Given the description of an element on the screen output the (x, y) to click on. 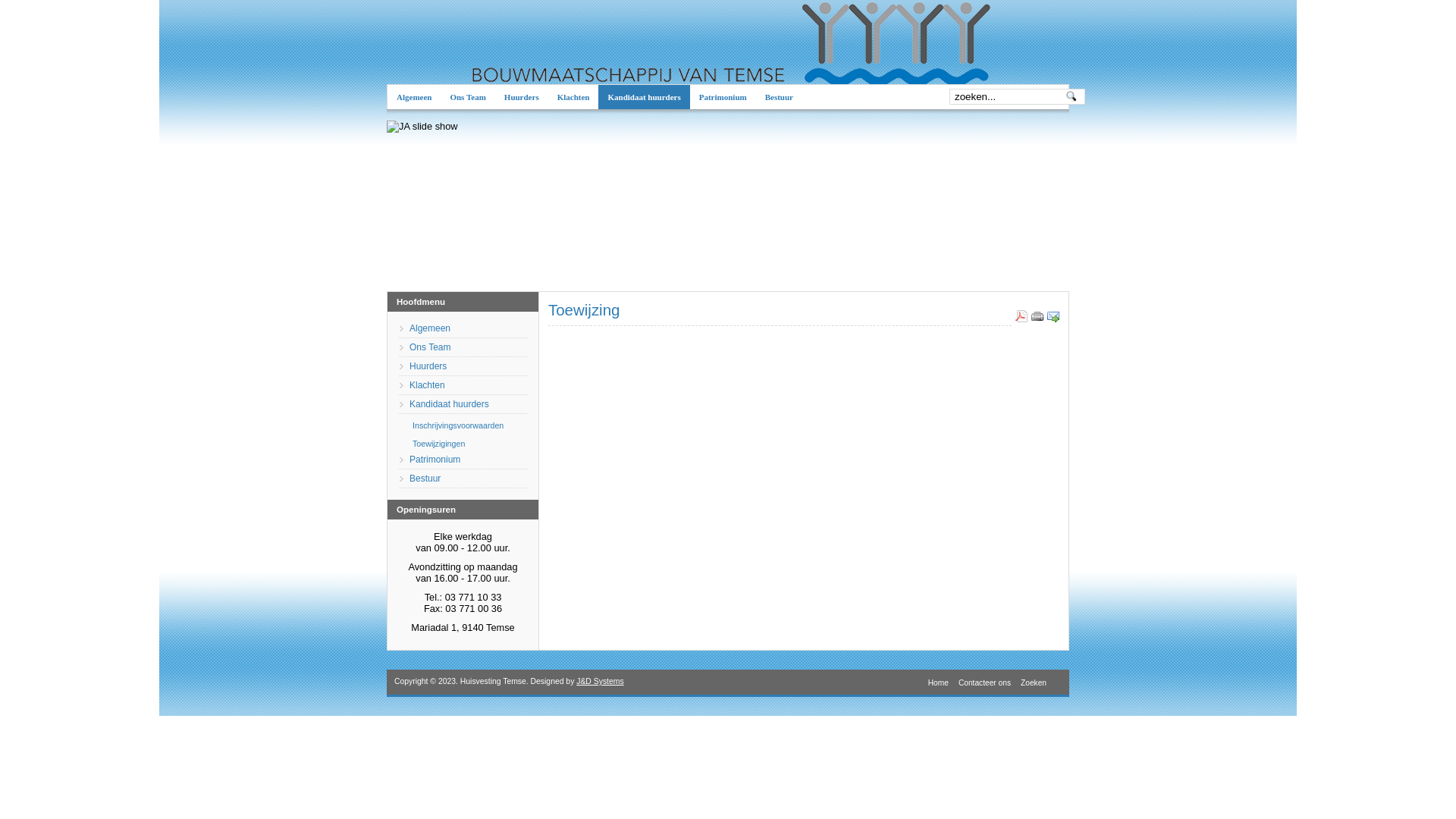
Patrimonium Element type: text (723, 96)
Zoeken Element type: text (1031, 682)
Ons Team Element type: text (462, 347)
JA slide show Element type: hover (422, 126)
Algemeen Element type: text (462, 328)
J&D Systems Element type: text (599, 681)
Print Element type: hover (1037, 317)
Klachten Element type: text (462, 385)
Contacteer ons Element type: text (982, 682)
Inschrijvingsvoorwaarden Element type: text (464, 425)
Home Element type: text (936, 682)
Bestuur Element type: text (779, 96)
E-mail Element type: hover (1053, 317)
Kandidaat huurders Element type: text (643, 96)
Klachten Element type: text (573, 96)
Patrimonium Element type: text (462, 459)
Bestuur Element type: text (462, 478)
Ons Team Element type: text (467, 96)
Toewijzigingen Element type: text (464, 443)
PDF Element type: hover (1021, 317)
Algemeen Element type: text (413, 96)
Kandidaat huurders Element type: text (462, 404)
Huurders Element type: text (462, 366)
Huurders Element type: text (521, 96)
